Given the description of an element on the screen output the (x, y) to click on. 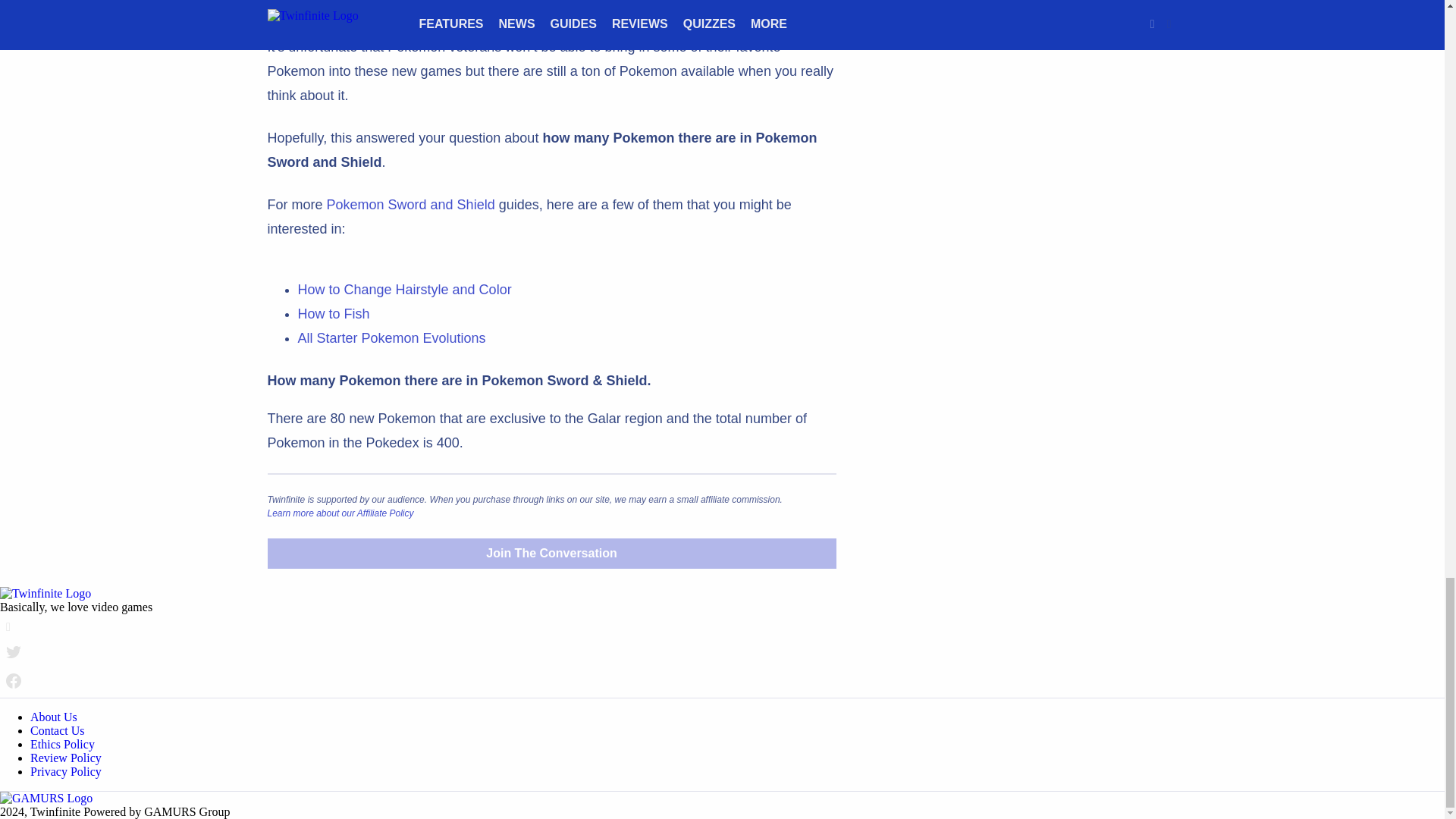
Join The Conversation (550, 553)
